Given the description of an element on the screen output the (x, y) to click on. 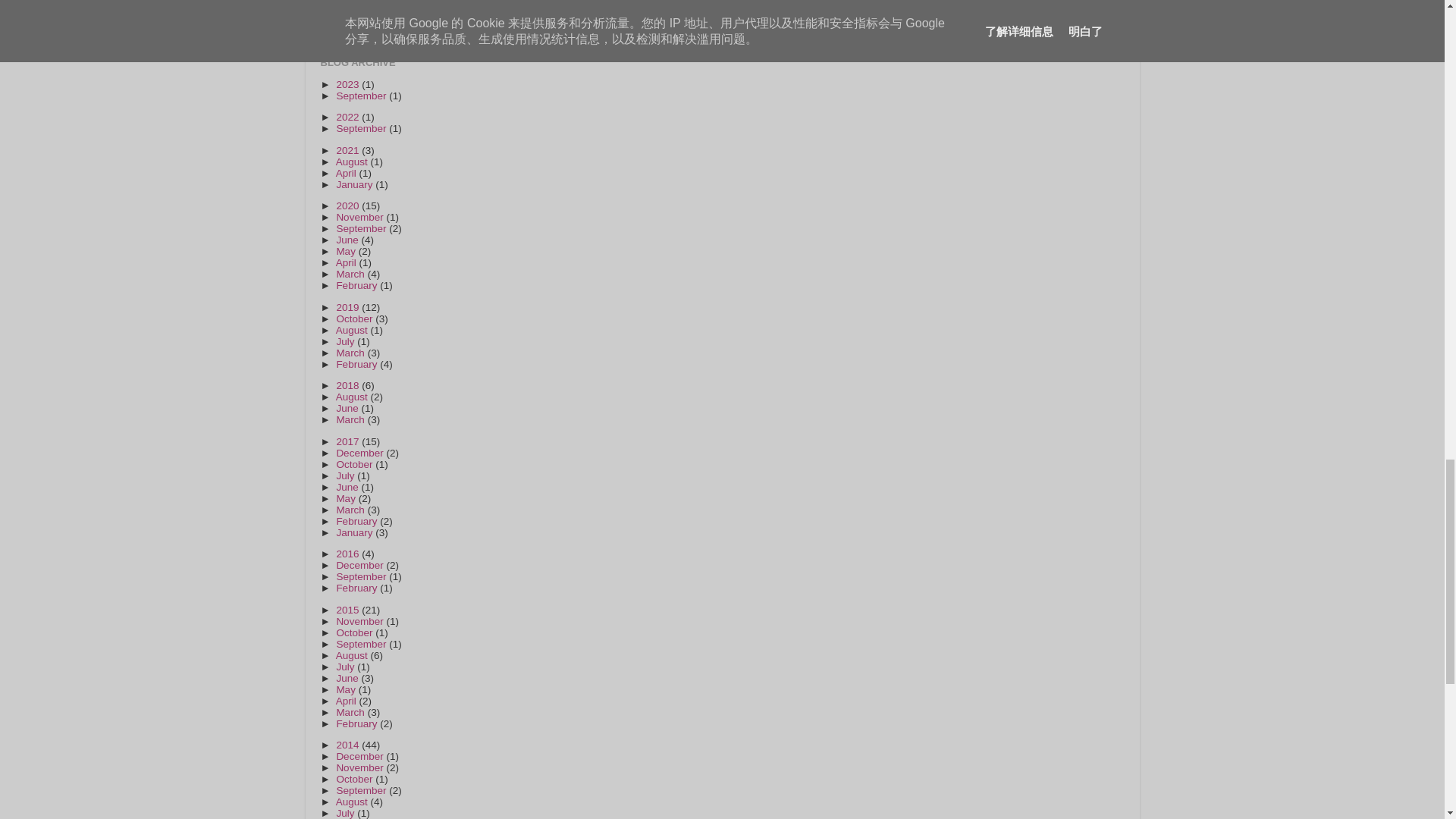
2022 (348, 116)
2021 (348, 150)
August (353, 161)
September (362, 128)
September (362, 95)
2023 (348, 84)
